Given the description of an element on the screen output the (x, y) to click on. 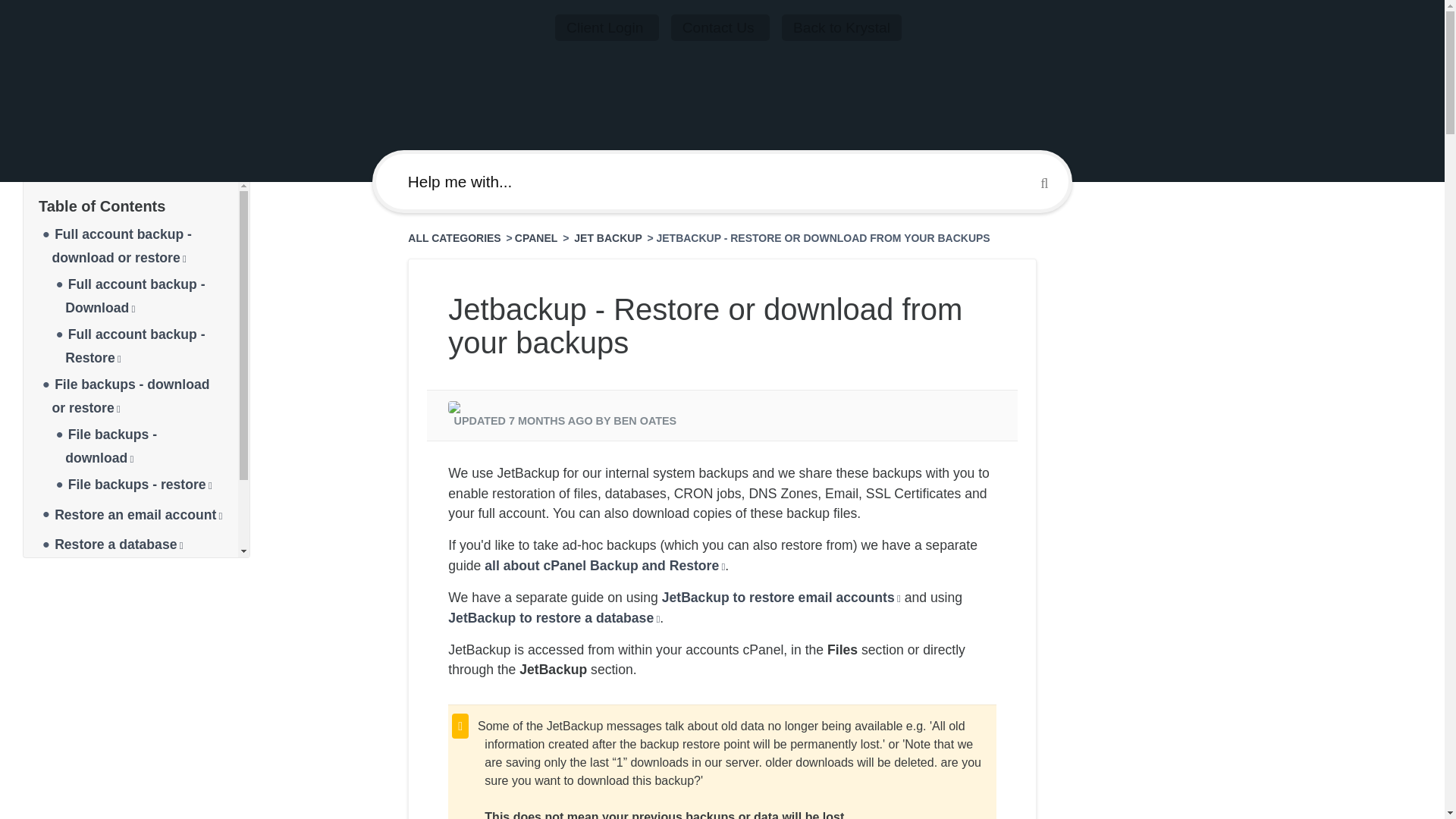
Contact Us (720, 27)
Full account backup - Download (135, 295)
Full account backup - Restore (135, 345)
all about cPanel Backup and Restore (604, 565)
JetBackup to restore a database (553, 617)
Client Login (606, 27)
File backups - download (111, 446)
CPANEL (536, 237)
ALL CATEGORIES (455, 237)
Restore an email account (138, 514)
Restore a database (119, 544)
File backups - download or restore (130, 395)
File backups - restore (140, 484)
JetBackup to restore email accounts (781, 597)
JET BACKUP (609, 237)
